Given the description of an element on the screen output the (x, y) to click on. 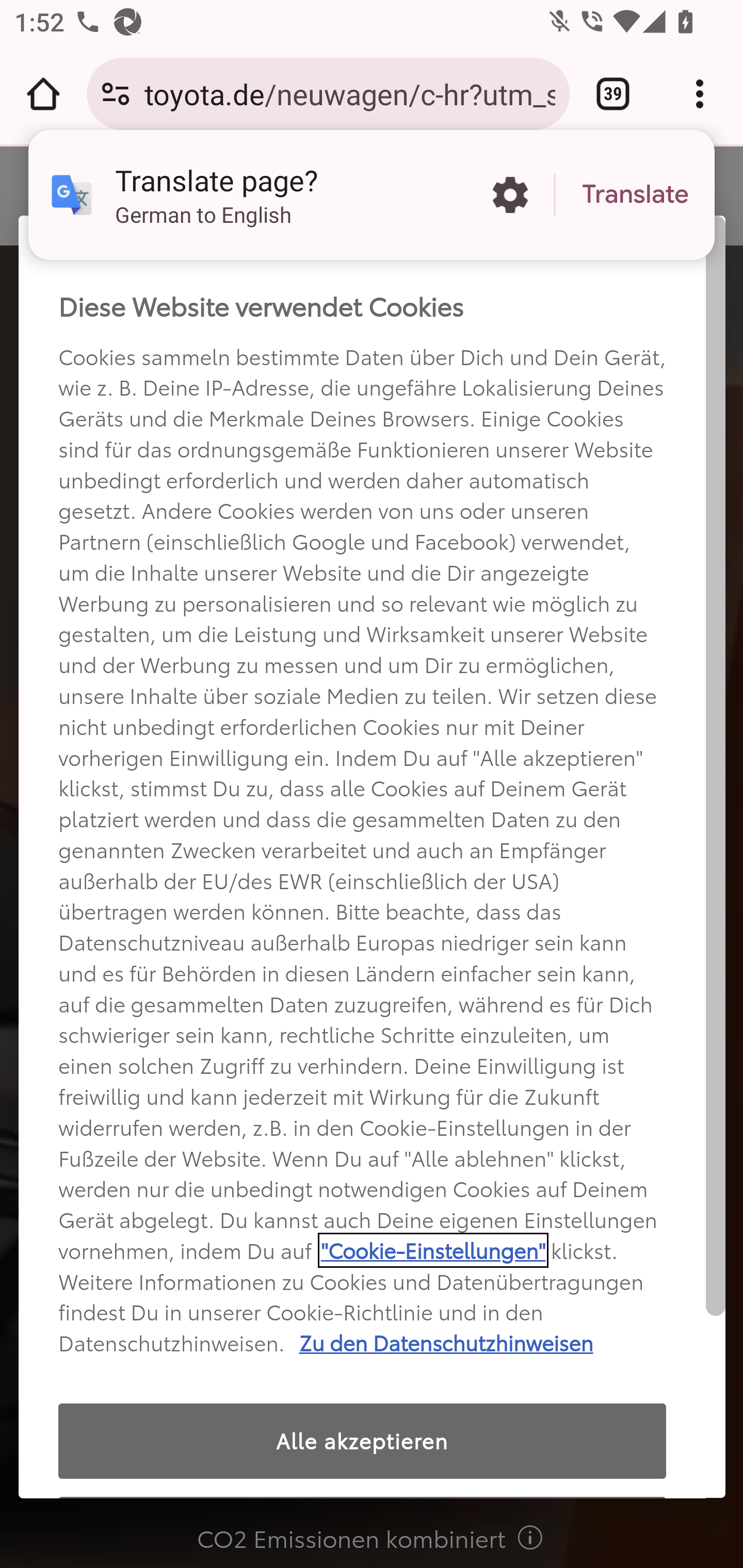
Open the home page (43, 93)
Connection is secure (115, 93)
Switch or close tabs (612, 93)
Customize and control Google Chrome (699, 93)
Translate (634, 195)
More options in the Translate page? (509, 195)
Zu den Datenschutzhinweisen (445, 1341)
Alle akzeptieren (361, 1440)
 (526, 1536)
